Given the description of an element on the screen output the (x, y) to click on. 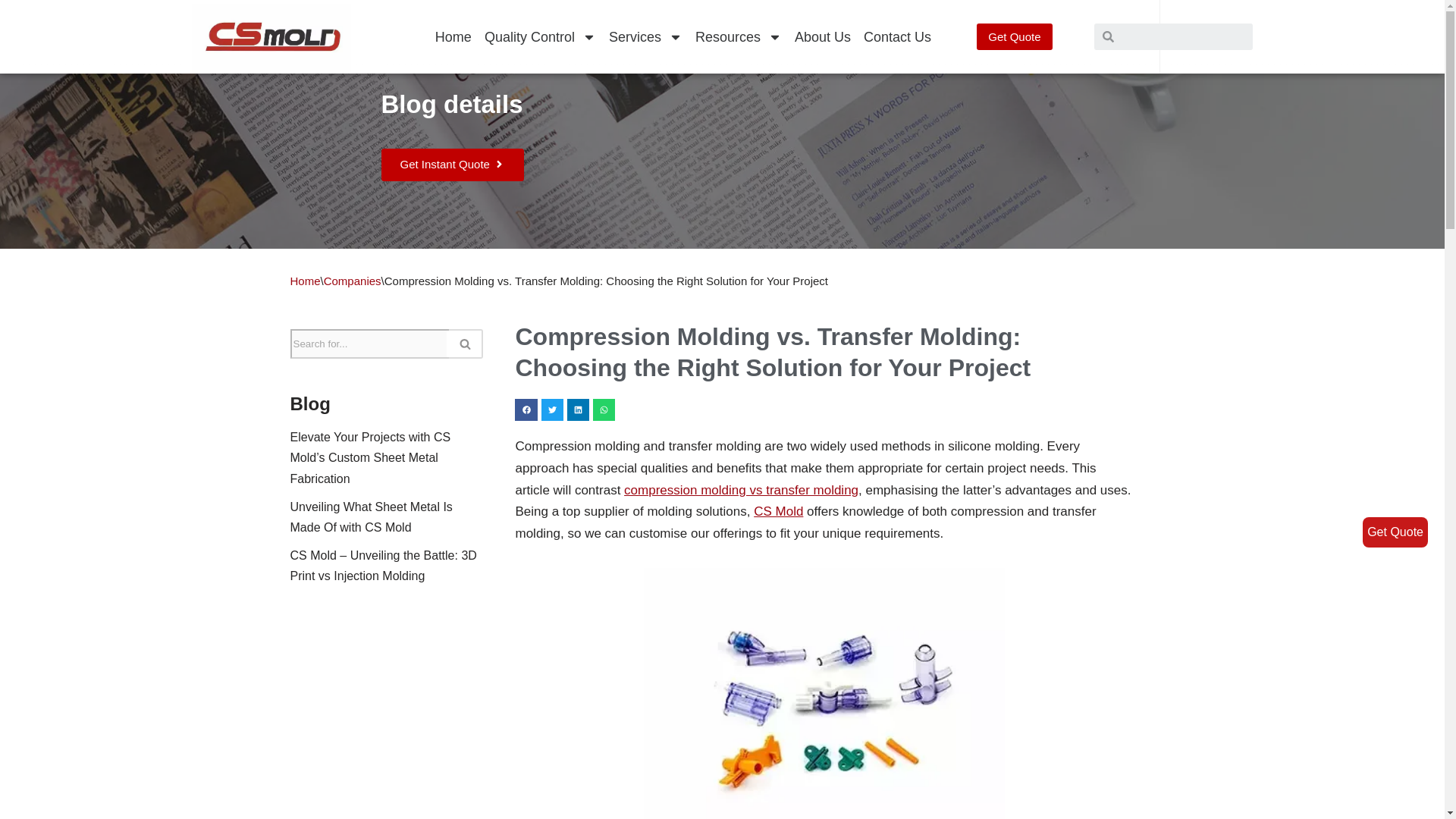
Resources (738, 36)
Contact Us (897, 36)
Skip to content (11, 31)
Services (645, 36)
Search (1182, 36)
About Us (822, 36)
Home (453, 36)
Quality Control (539, 36)
